Given the description of an element on the screen output the (x, y) to click on. 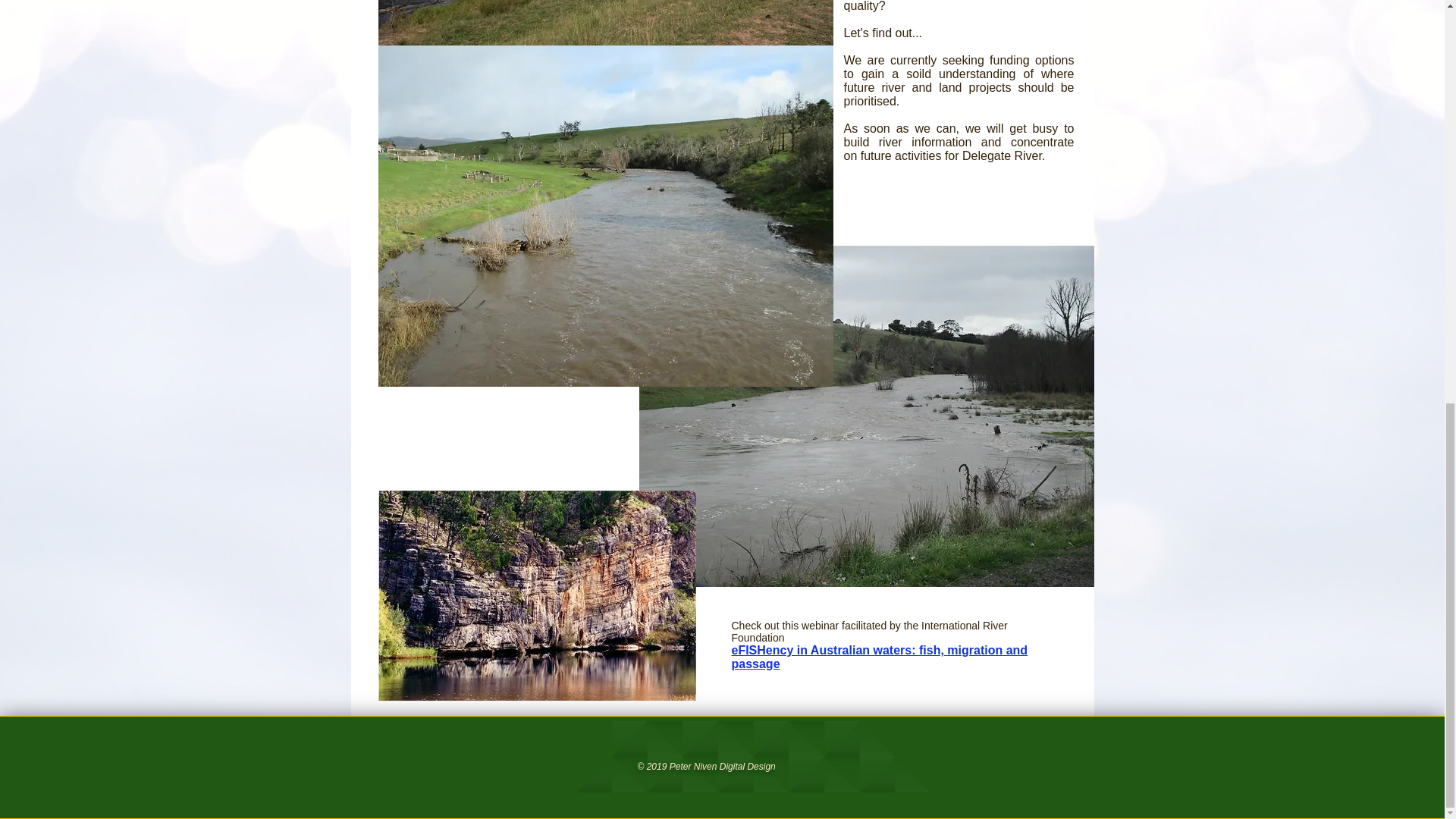
eFISHency in Australian waters: fish, migration and passage (878, 656)
